Given the description of an element on the screen output the (x, y) to click on. 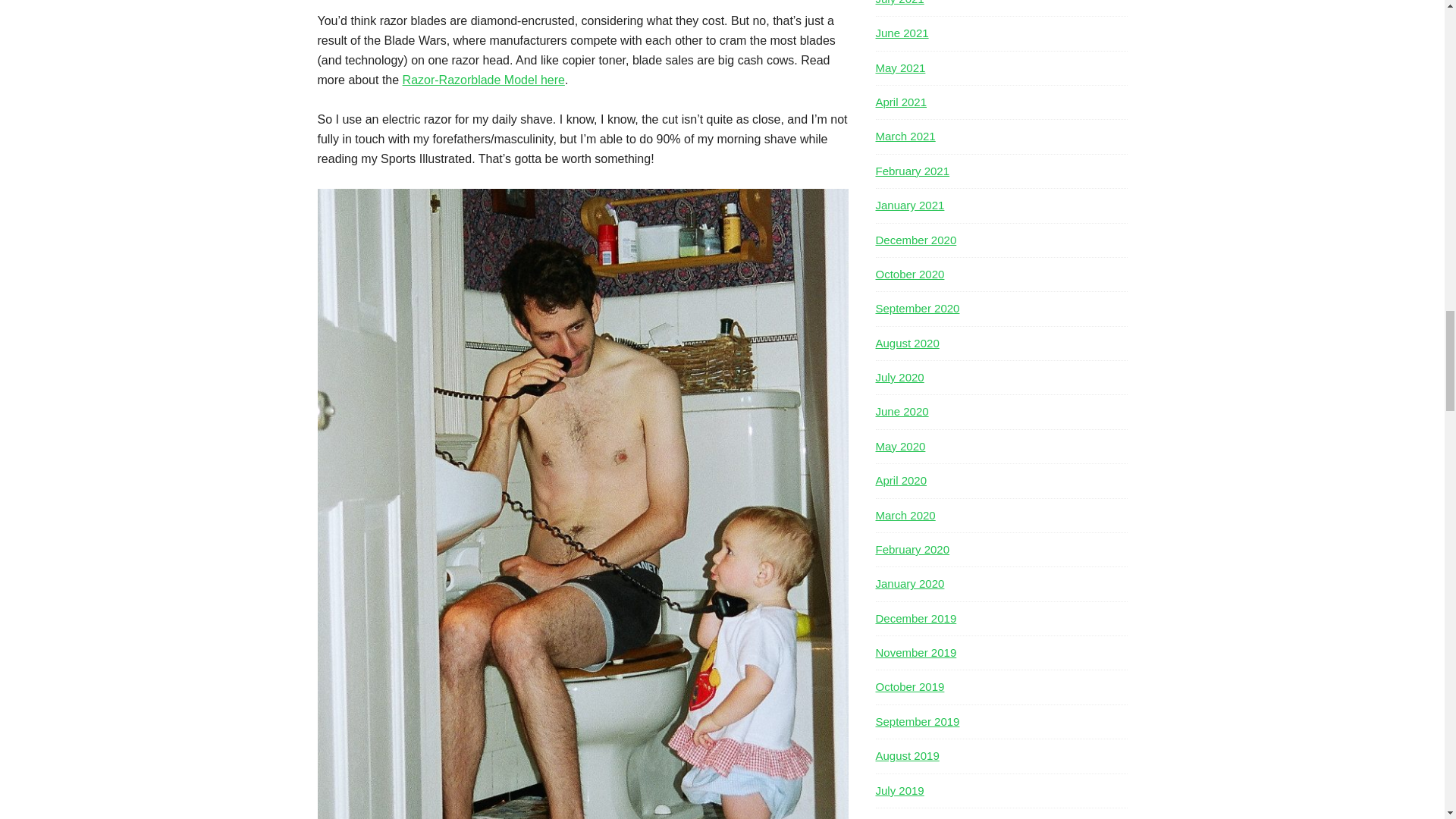
Razor-Razorblade Model here (483, 79)
